Given the description of an element on the screen output the (x, y) to click on. 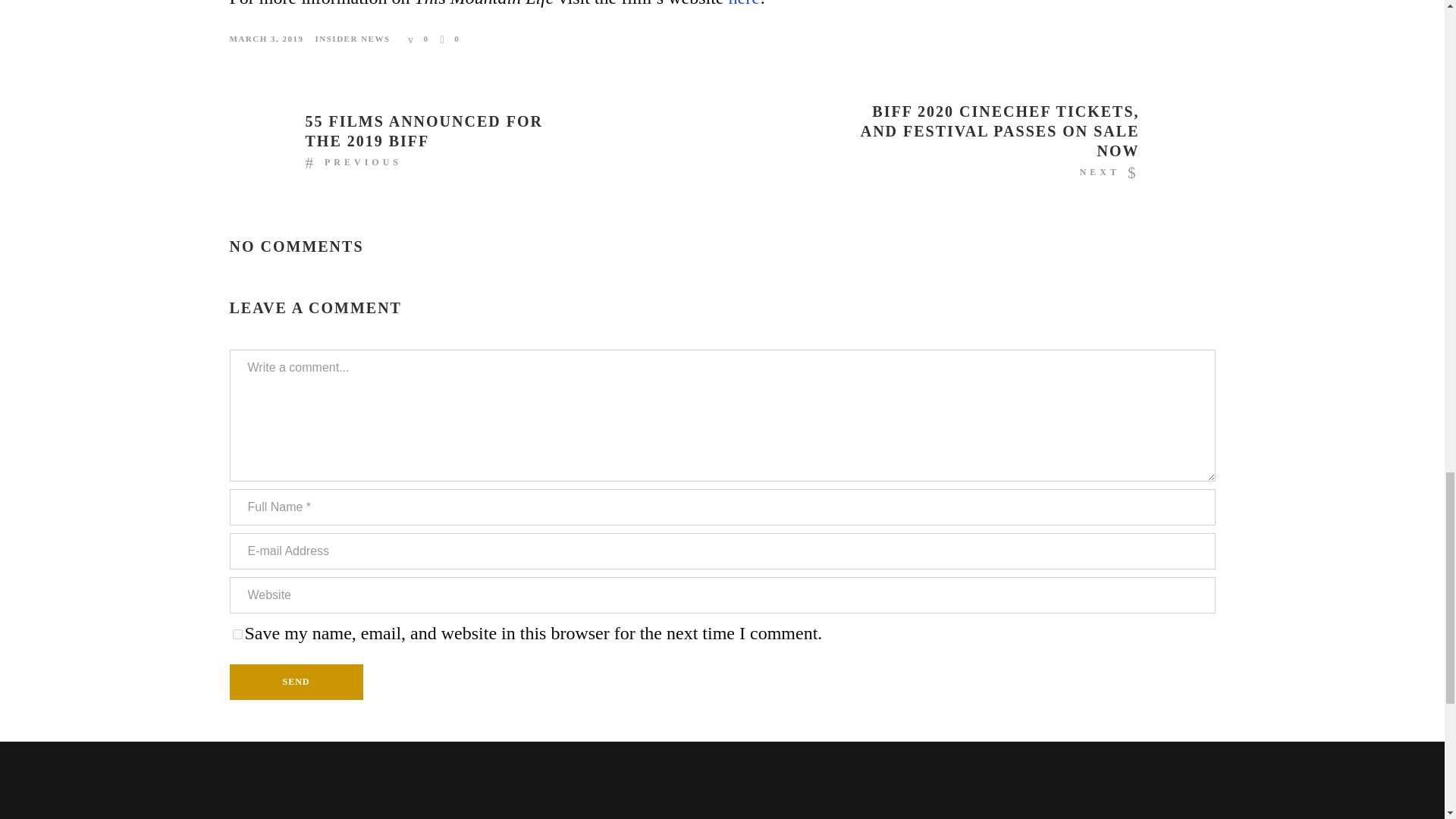
yes (236, 634)
Send (295, 682)
Like this (450, 38)
